Given the description of an element on the screen output the (x, y) to click on. 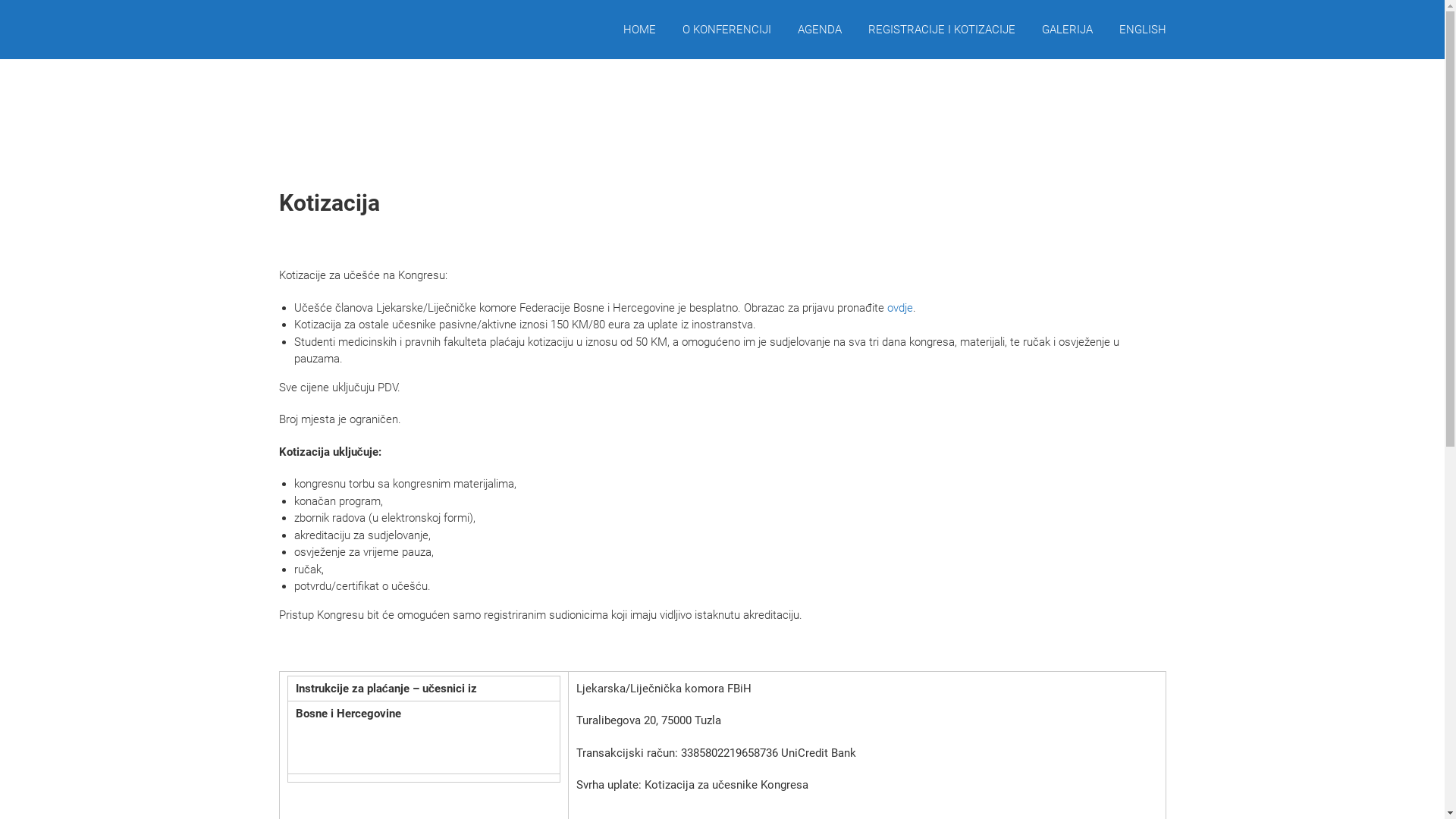
GALERIJA Element type: text (1066, 29)
ENGLISH Element type: text (1142, 29)
AGENDA Element type: text (819, 29)
HOME Element type: text (639, 29)
ovdje Element type: text (900, 306)
REGISTRACIJE I KOTIZACIJE Element type: text (940, 29)
O KONFERENCIJI Element type: text (726, 29)
